Given the description of an element on the screen output the (x, y) to click on. 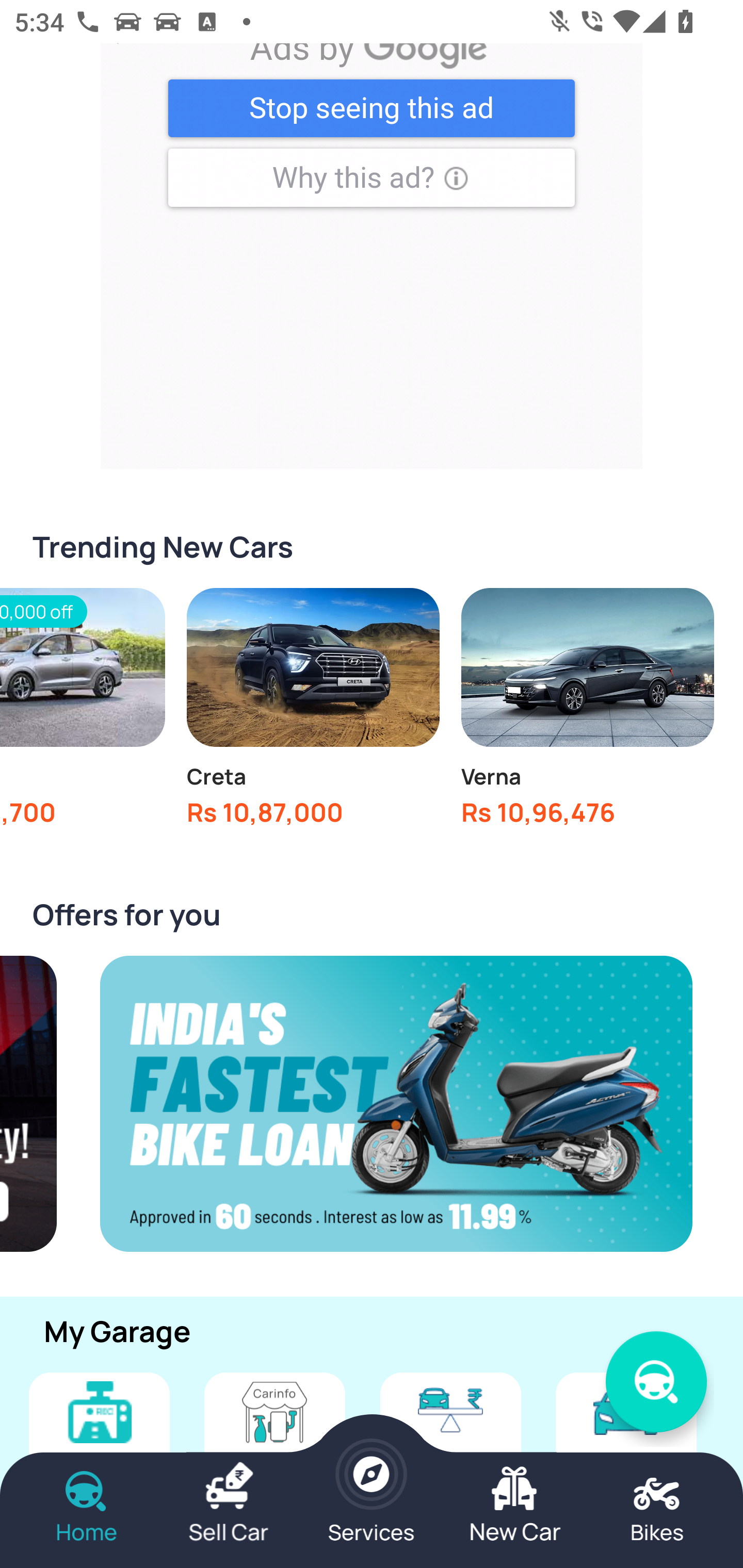
Rs 60,000 off Aura Rs 6,43,700 onwards (82, 712)
Creta Rs 10,87,000 onwards (312, 712)
Verna Rs 10,96,476 onwards (587, 712)
